Given the description of an element on the screen output the (x, y) to click on. 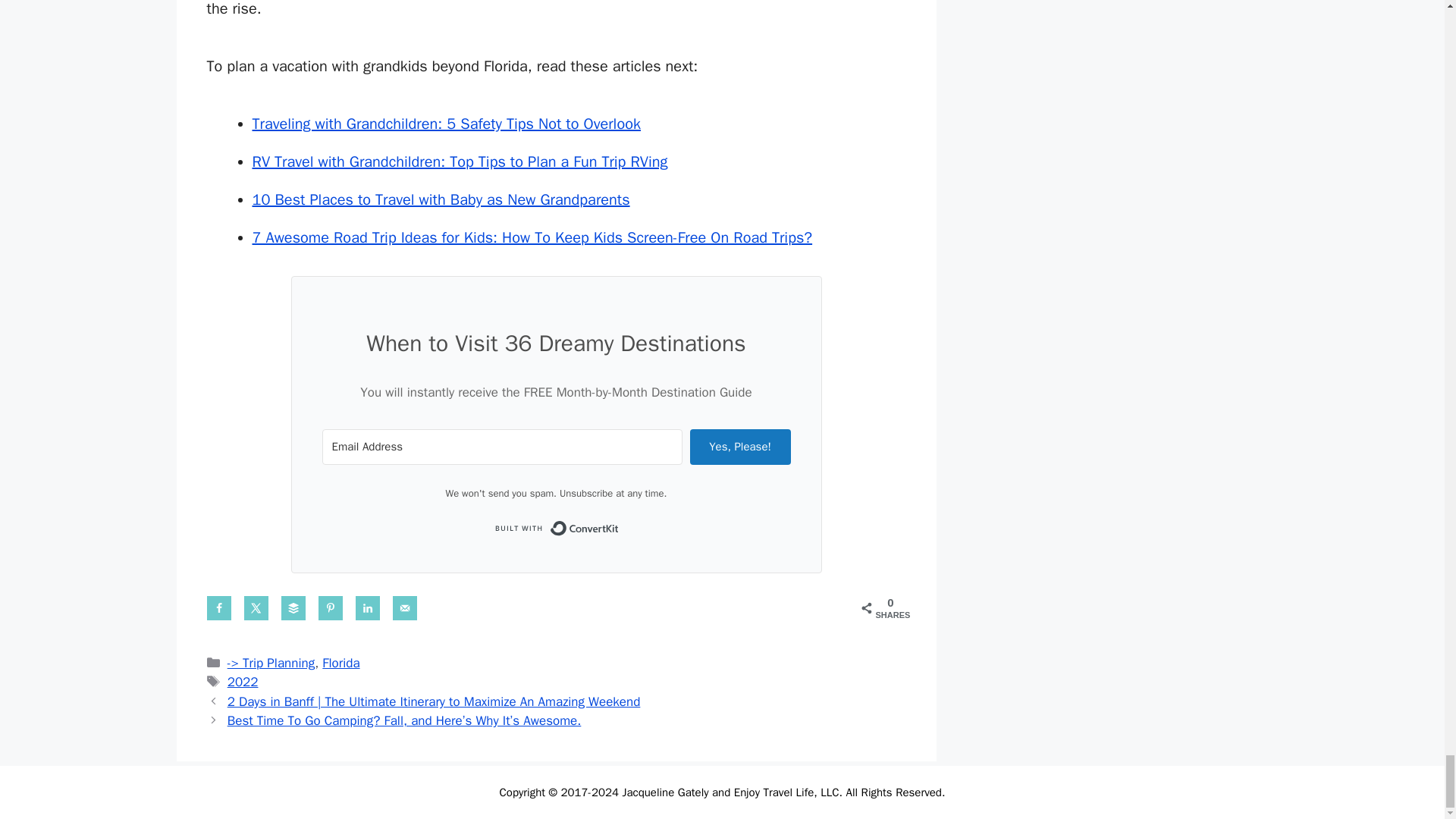
Save to Pinterest (330, 607)
Send over email (404, 607)
Share on X (255, 607)
Share on Buffer (293, 607)
Share on LinkedIn (367, 607)
Share on Facebook (218, 607)
